Given the description of an element on the screen output the (x, y) to click on. 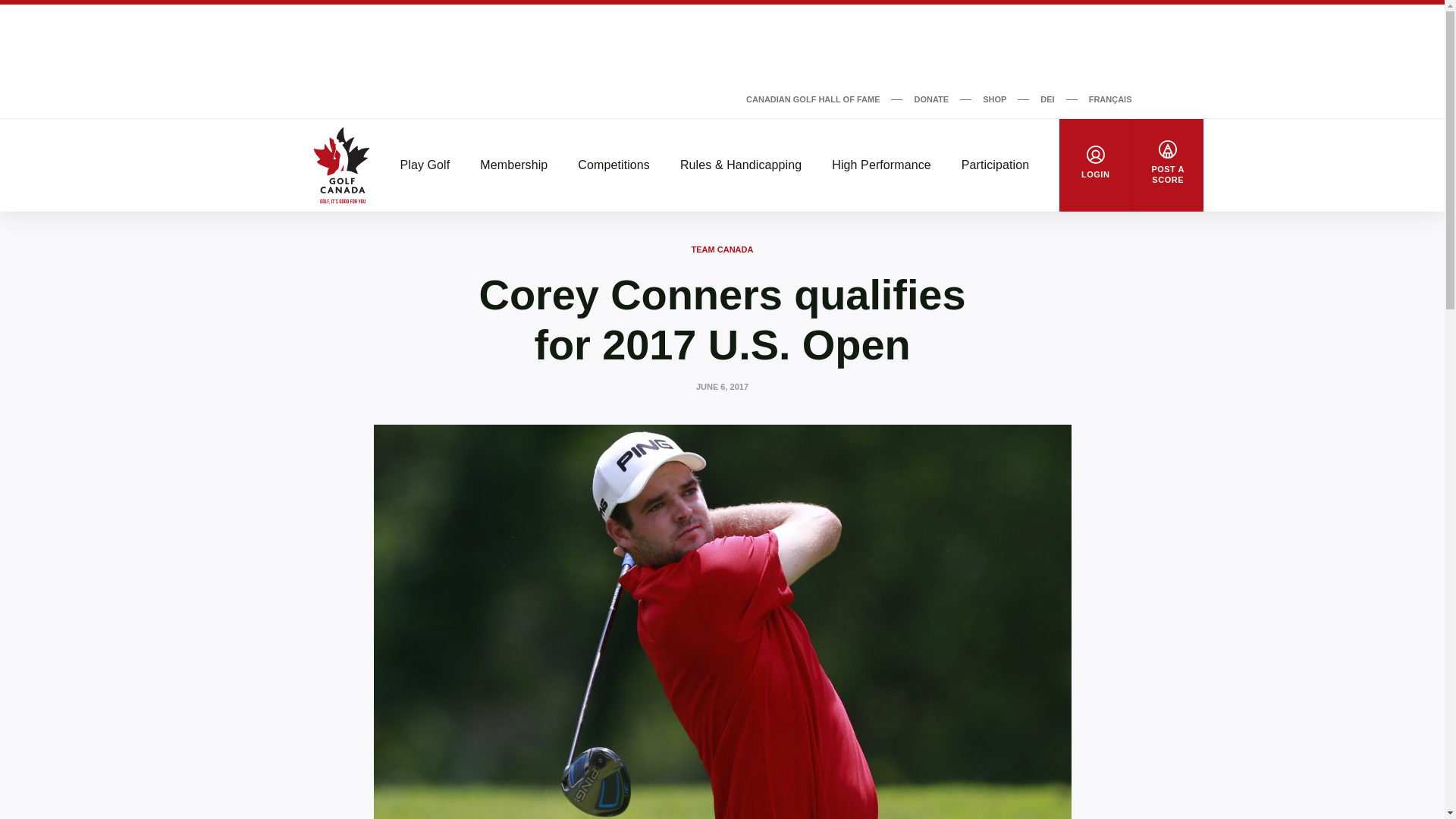
DEI (1047, 99)
SHOP (994, 99)
High Performance (881, 165)
3rd party ad content (721, 46)
Membership (513, 165)
Play Golf (425, 165)
Competitions (613, 165)
CANADIAN GOLF HALL OF FAME (812, 99)
DONATE (931, 99)
Participation (994, 165)
